Given the description of an element on the screen output the (x, y) to click on. 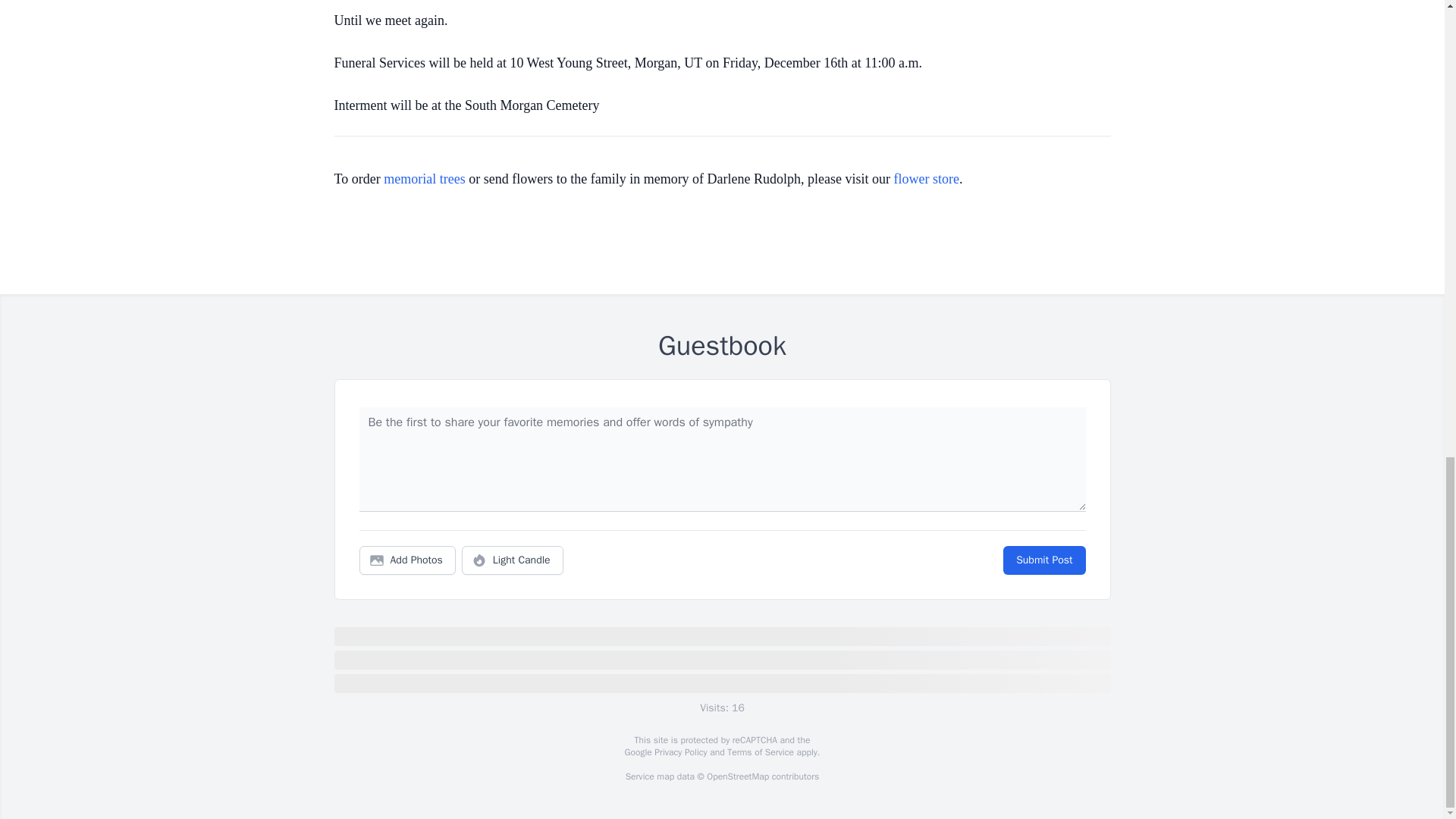
Light Candle (512, 560)
Terms of Service (759, 752)
Add Photos (407, 560)
flower store (926, 178)
memorial trees (424, 178)
OpenStreetMap (737, 776)
Privacy Policy (679, 752)
Submit Post (1043, 560)
